Given the description of an element on the screen output the (x, y) to click on. 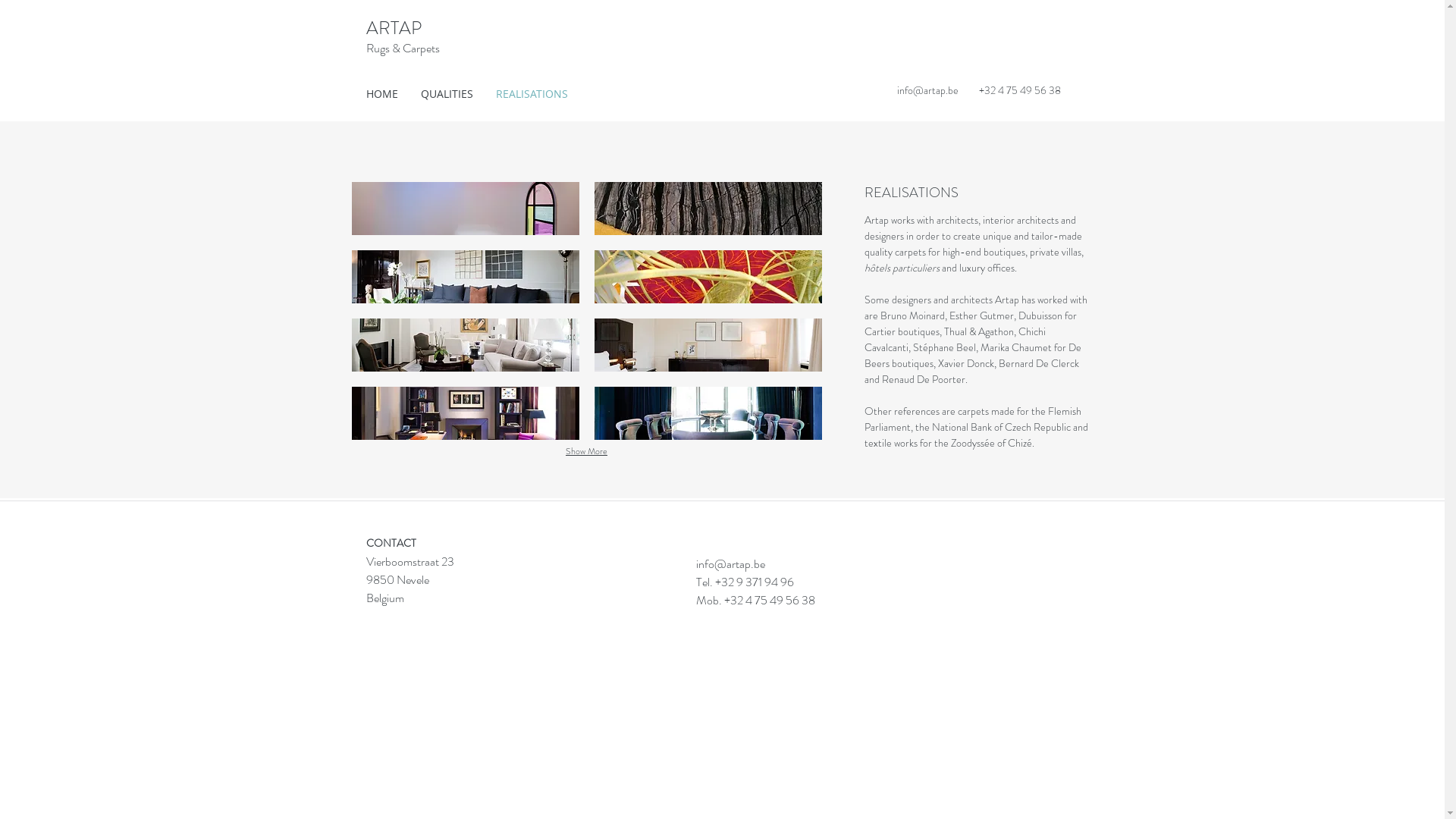
REALISATIONS Element type: text (530, 93)
Show More Element type: text (586, 451)
QUALITIES Element type: text (446, 93)
HOME Element type: text (381, 93)
info@artap.be Element type: text (926, 89)
info@artap.be Element type: text (730, 563)
